Given the description of an element on the screen output the (x, y) to click on. 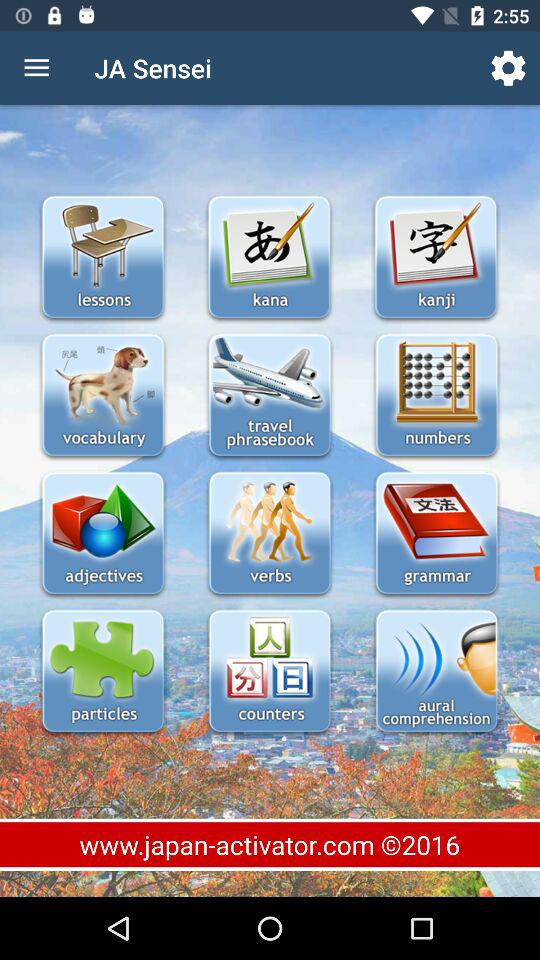
enter counters (269, 672)
